Given the description of an element on the screen output the (x, y) to click on. 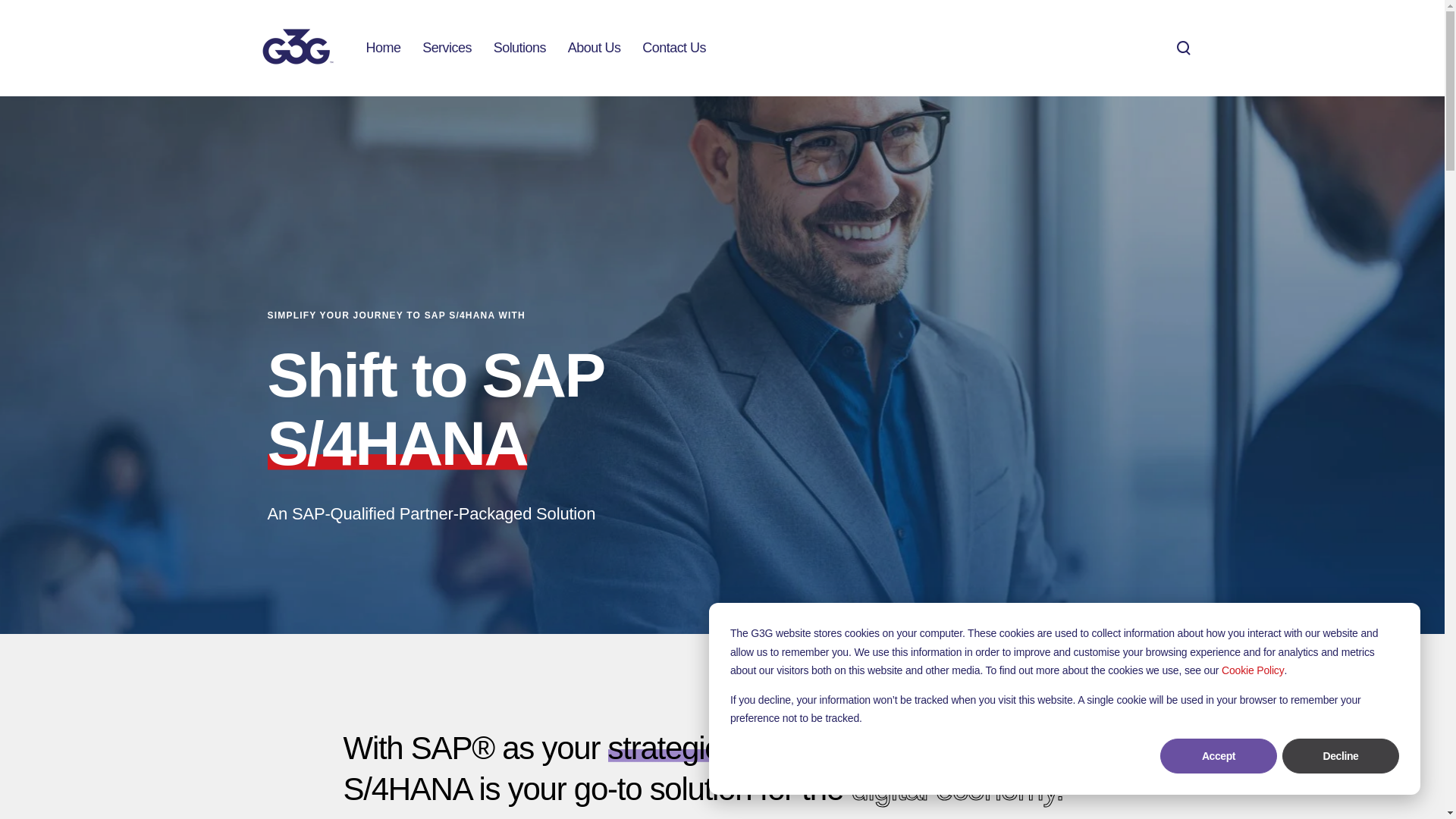
About Us (594, 47)
Services (446, 47)
Contact Us (674, 47)
Privacy Policy (1252, 670)
Solutions (519, 47)
Home (382, 47)
